Given the description of an element on the screen output the (x, y) to click on. 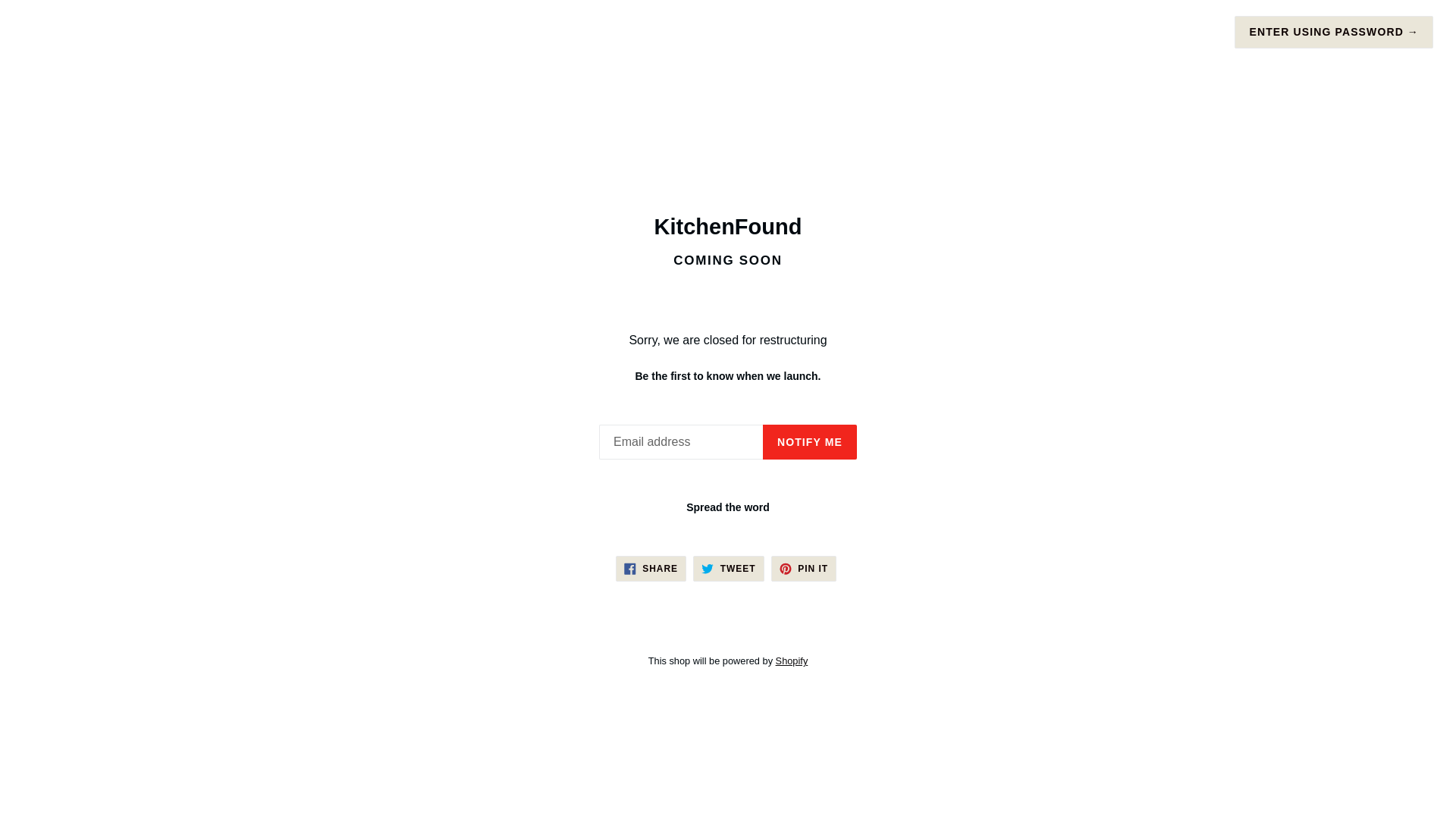
TWEET
TWEET ON TWITTER Element type: text (728, 568)
PIN IT
PIN ON PINTEREST Element type: text (803, 568)
NOTIFY ME Element type: text (809, 441)
SHARE
SHARE ON FACEBOOK Element type: text (650, 568)
Shopify Element type: text (791, 660)
